Given the description of an element on the screen output the (x, y) to click on. 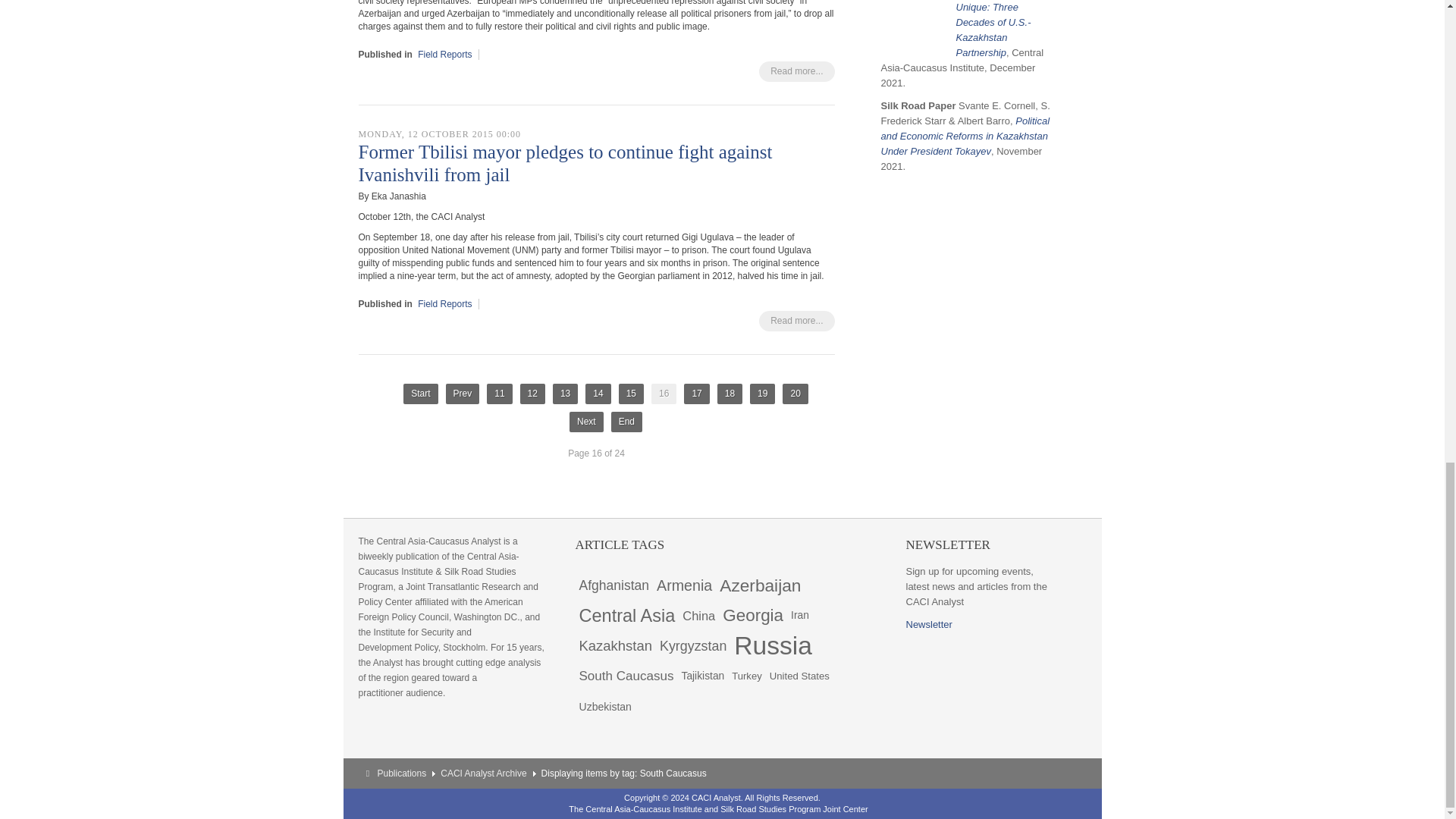
16 (663, 394)
15 (630, 394)
Field Reports (444, 303)
Next (586, 421)
Read more... (796, 71)
15 (630, 394)
Start (420, 394)
19 (761, 394)
Field Reports (444, 54)
